Given the description of an element on the screen output the (x, y) to click on. 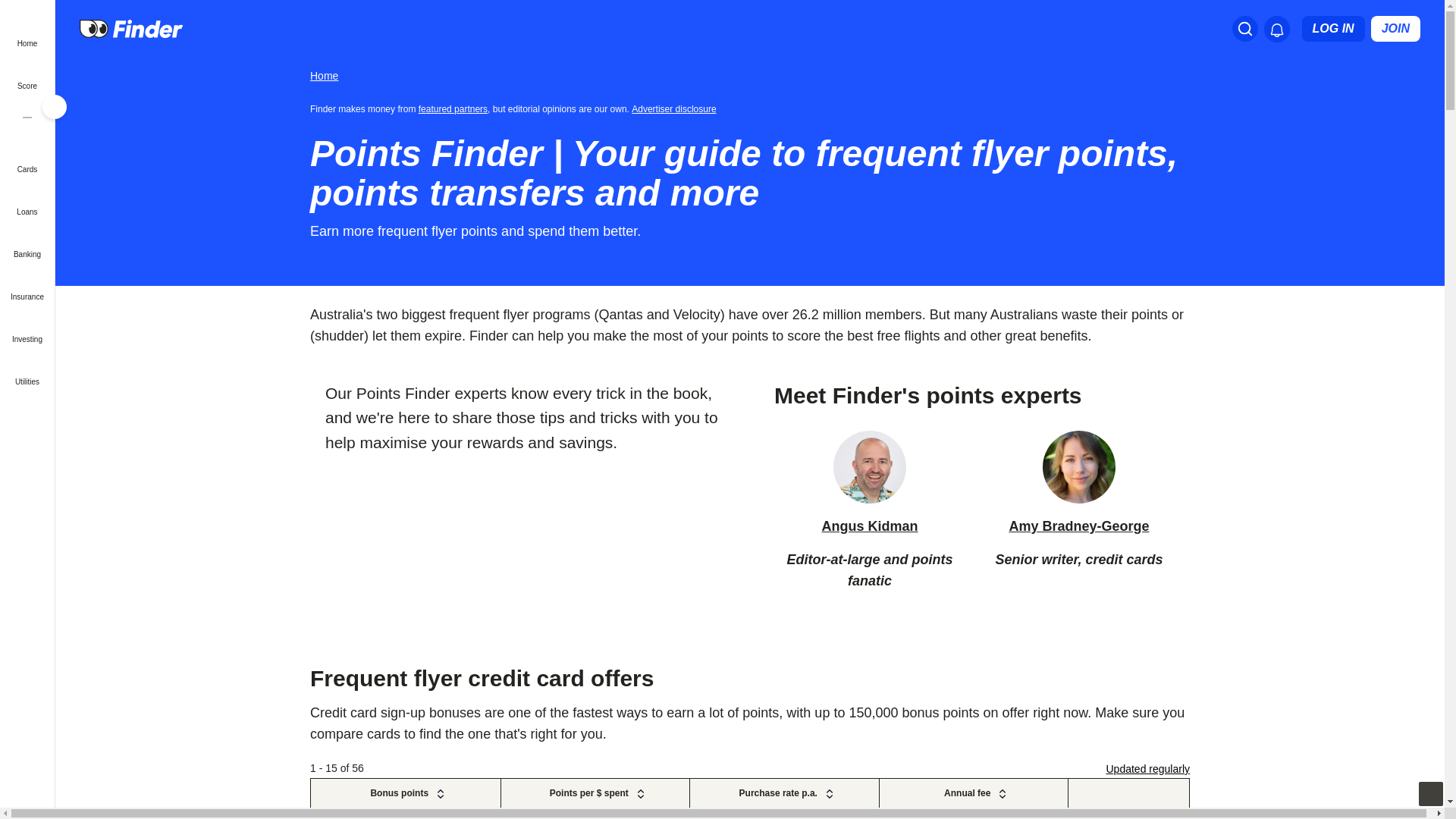
Important information about this website (676, 108)
